Given the description of an element on the screen output the (x, y) to click on. 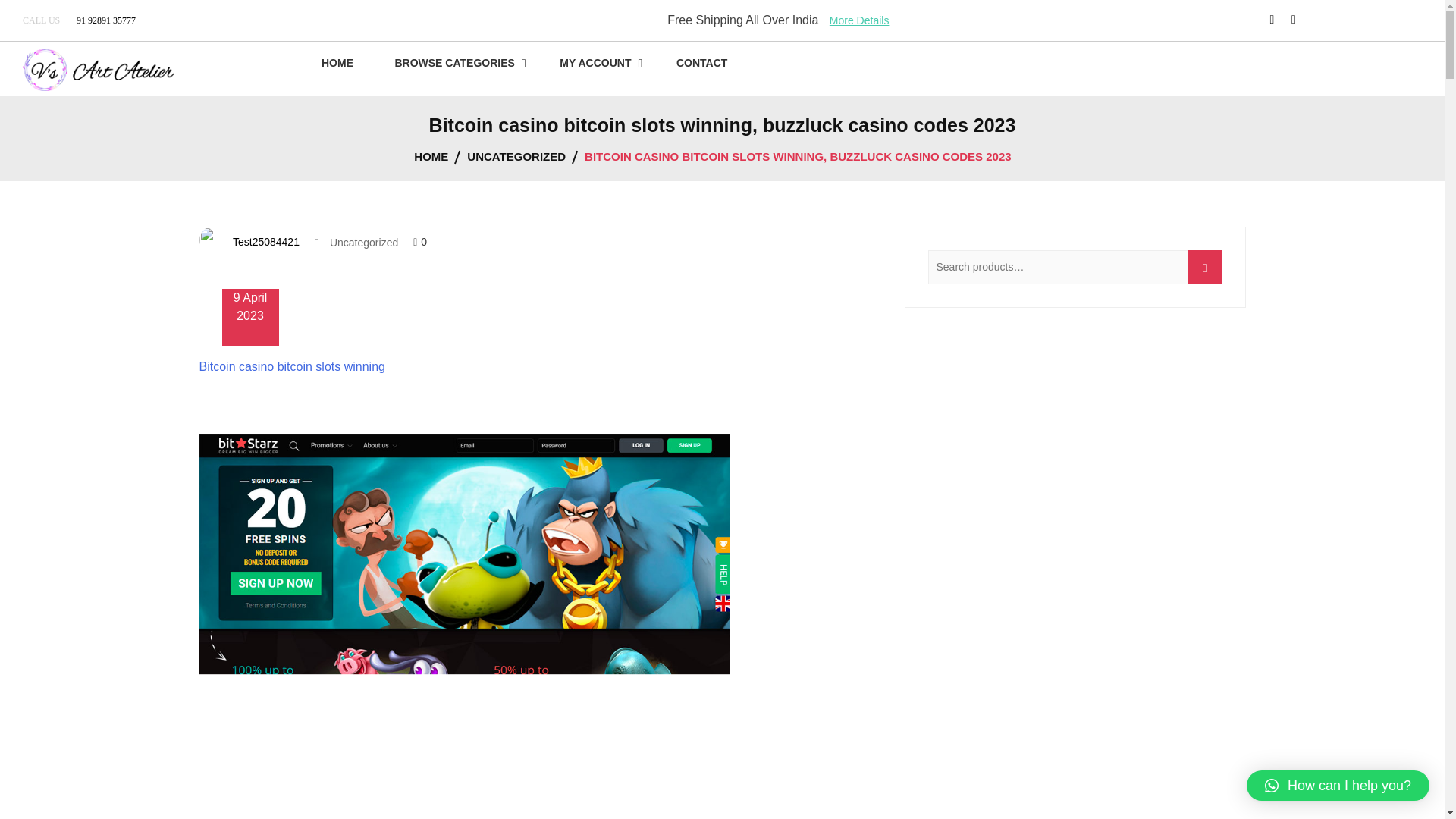
Posts by test25084421 (263, 240)
More Details (855, 20)
